Given the description of an element on the screen output the (x, y) to click on. 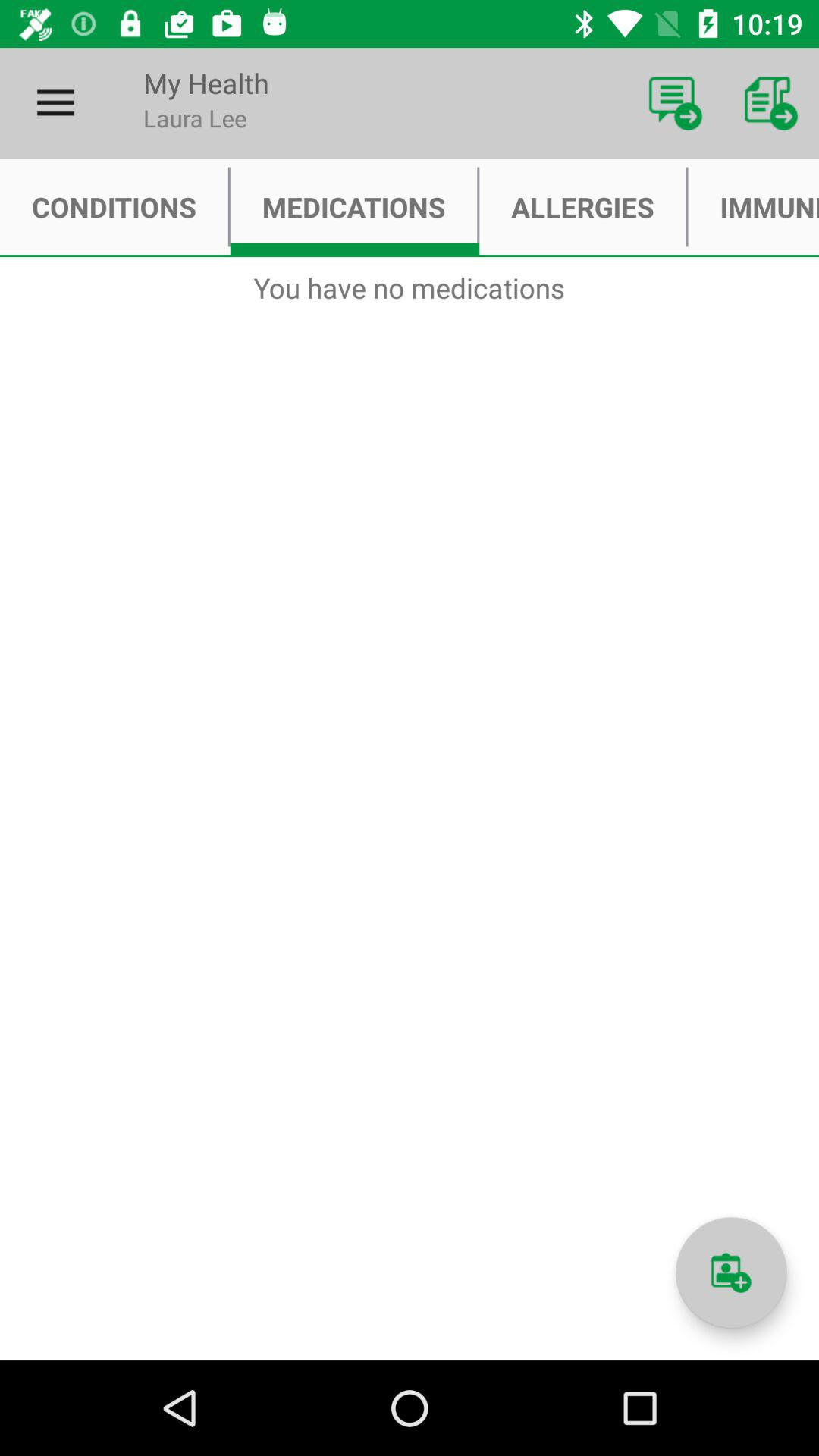
turn off the item to the left of the my health (55, 103)
